Given the description of an element on the screen output the (x, y) to click on. 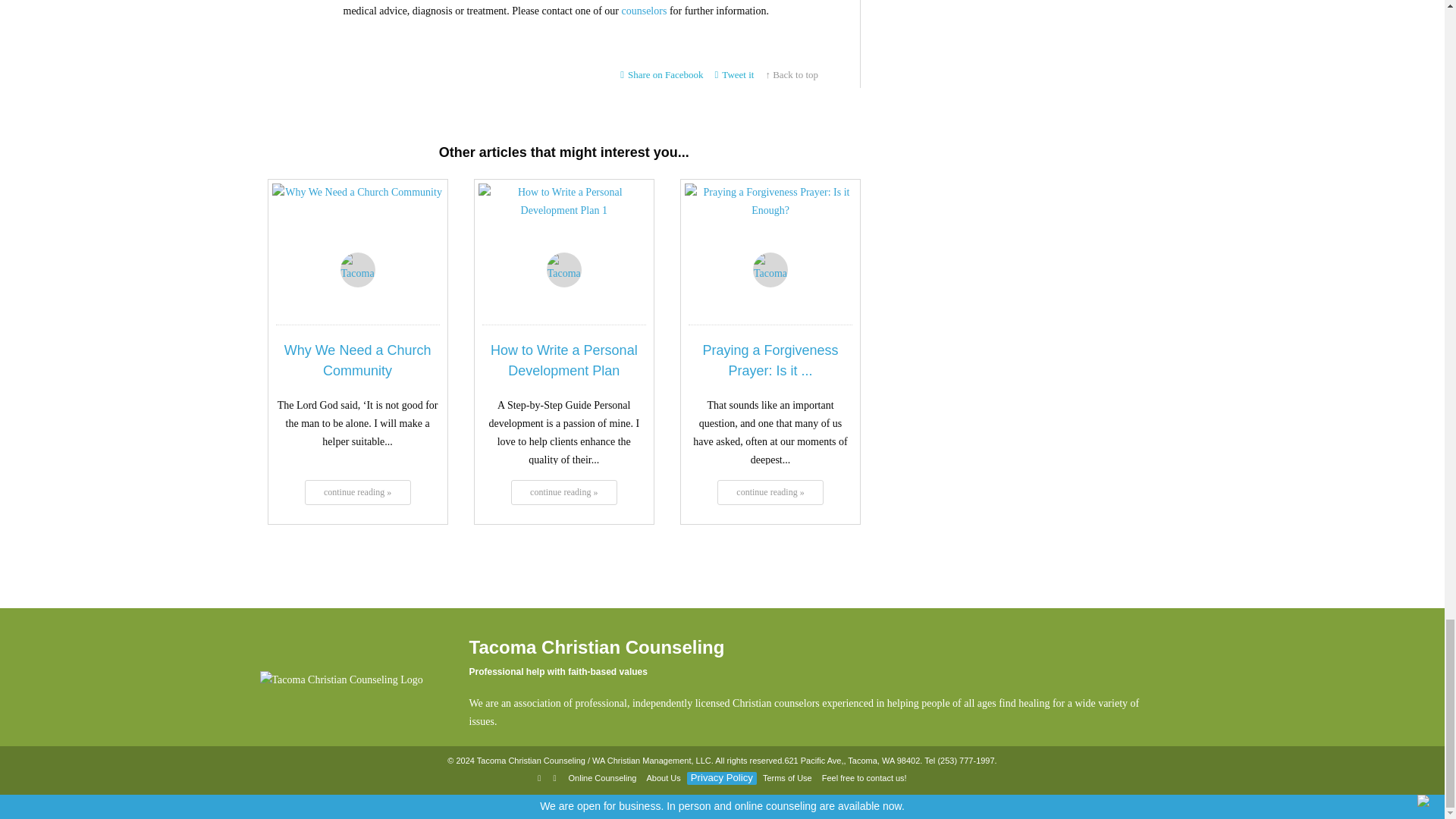
Share on Facebook (660, 74)
Praying a Forgiveness Prayer: Is it Enough? (769, 361)
Tweet it (734, 74)
How to Write a Personal Development Plan (563, 361)
Why We Need a Church Community (356, 226)
Praying a Forgiveness Prayer: Is it Enough? (770, 226)
Go back to top (791, 74)
How to Write a Personal Development Plan (564, 226)
Why We Need a Church Community (357, 491)
How to Write a Personal Development Plan (564, 491)
